Given the description of an element on the screen output the (x, y) to click on. 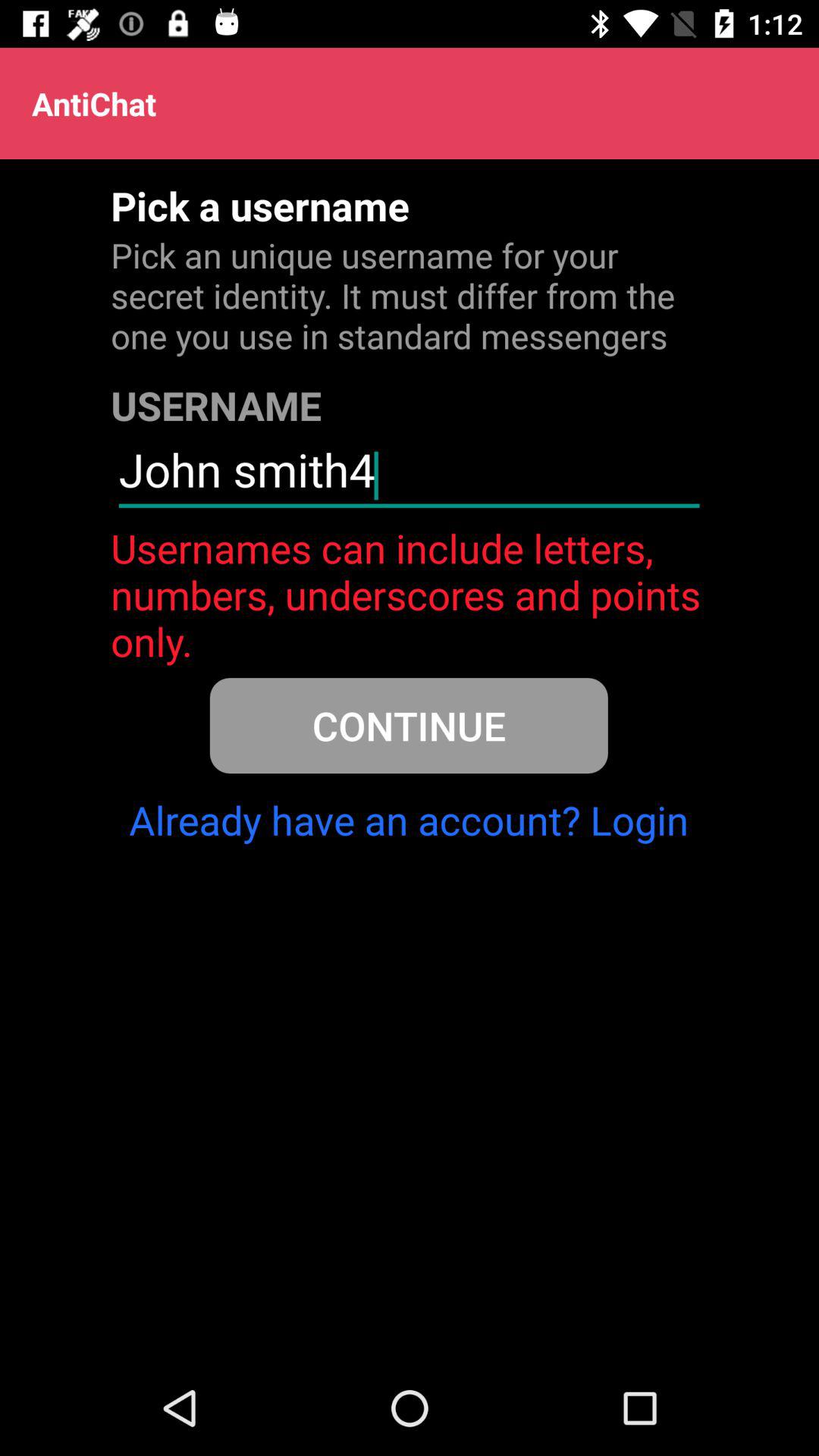
tap icon below usernames can include icon (408, 725)
